Given the description of an element on the screen output the (x, y) to click on. 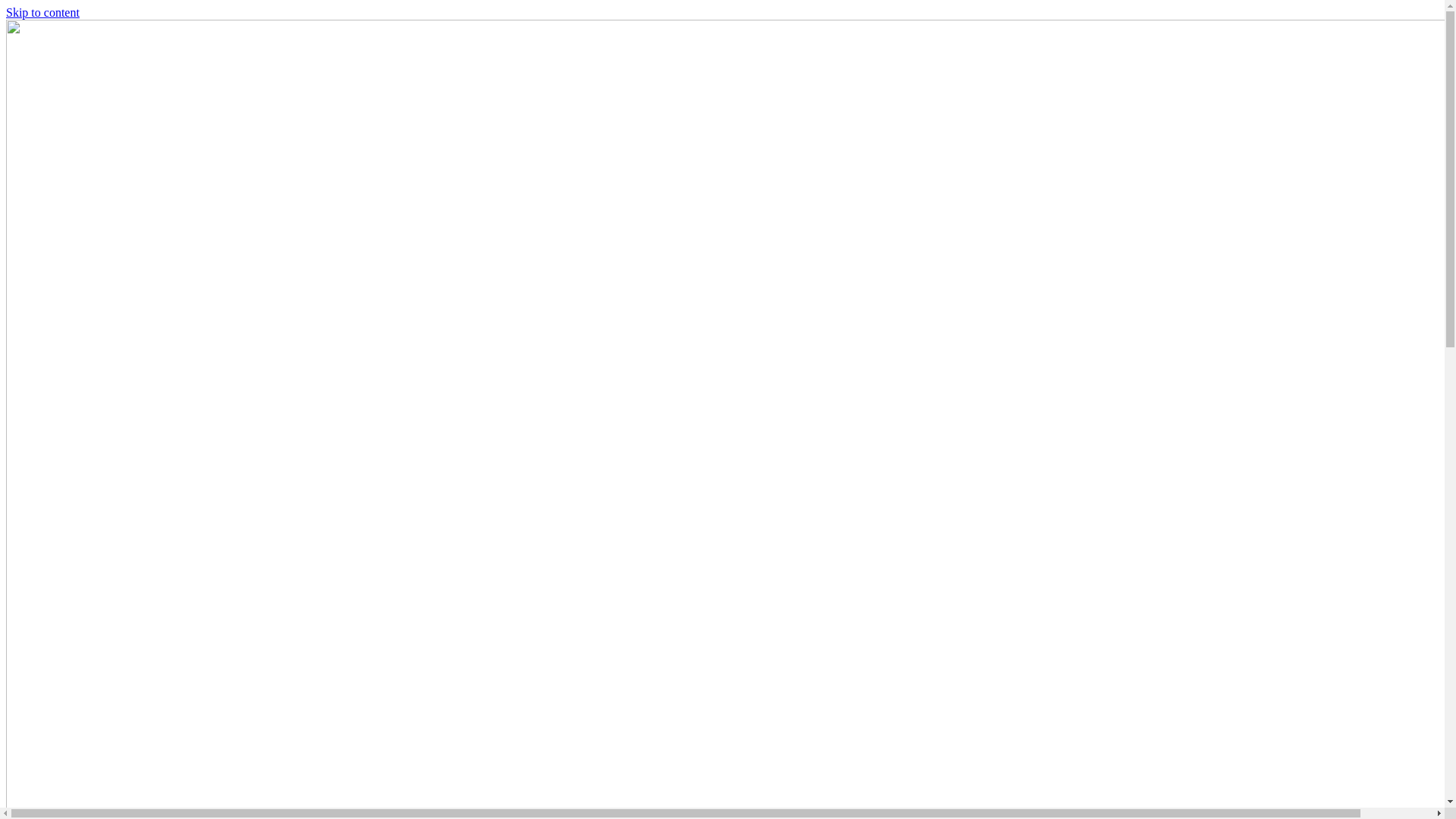
Skip to content Element type: text (42, 12)
